Given the description of an element on the screen output the (x, y) to click on. 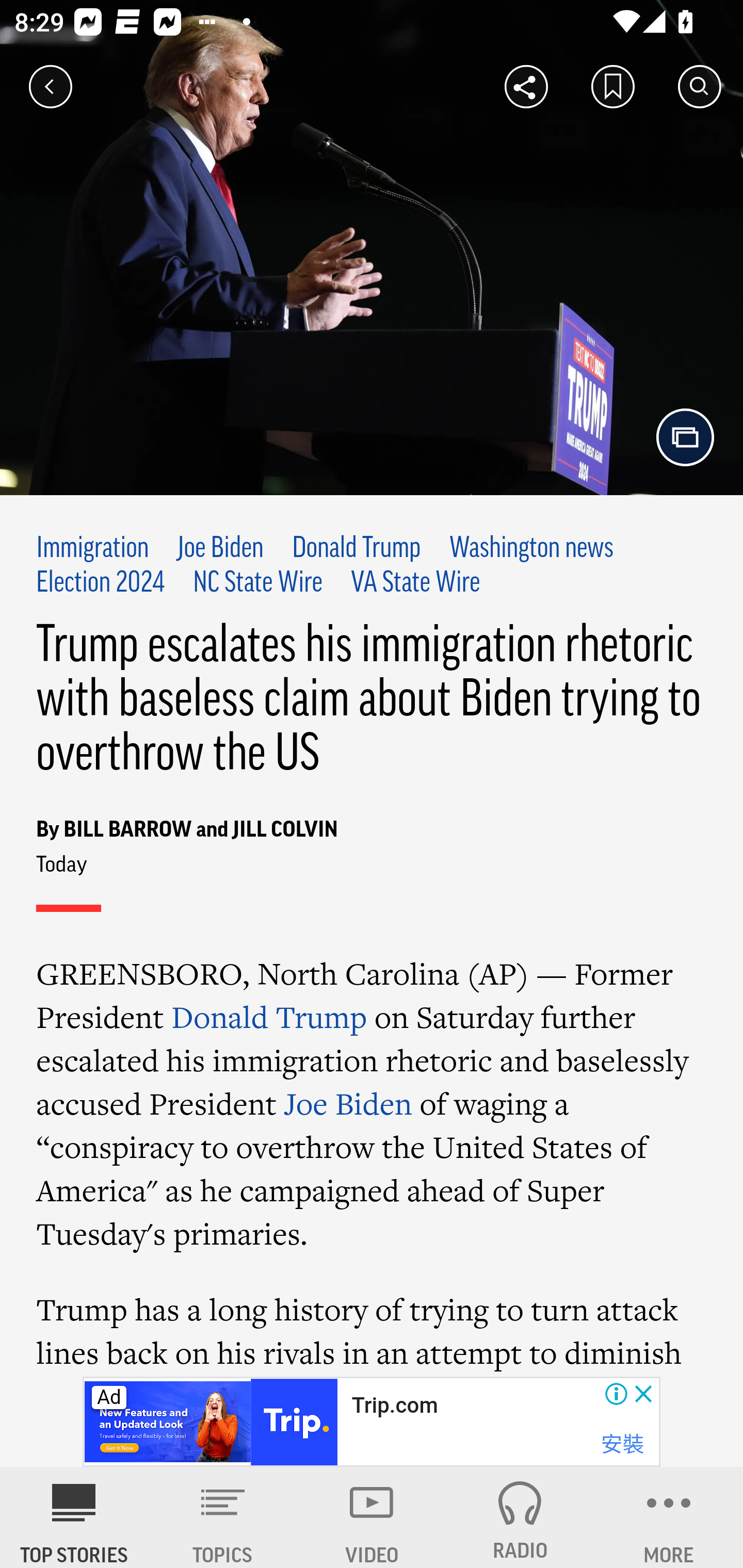
Immigration (92, 549)
Joe Biden (219, 549)
Donald Trump (356, 549)
Washington news (530, 549)
Election 2024 (101, 584)
NC State Wire (257, 584)
VA State Wire (415, 584)
Donald Trump (268, 1016)
Joe Biden (348, 1102)
Trip.com (393, 1405)
安裝 (621, 1444)
AP News TOP STORIES (74, 1517)
TOPICS (222, 1517)
VIDEO (371, 1517)
RADIO (519, 1517)
MORE (668, 1517)
